Given the description of an element on the screen output the (x, y) to click on. 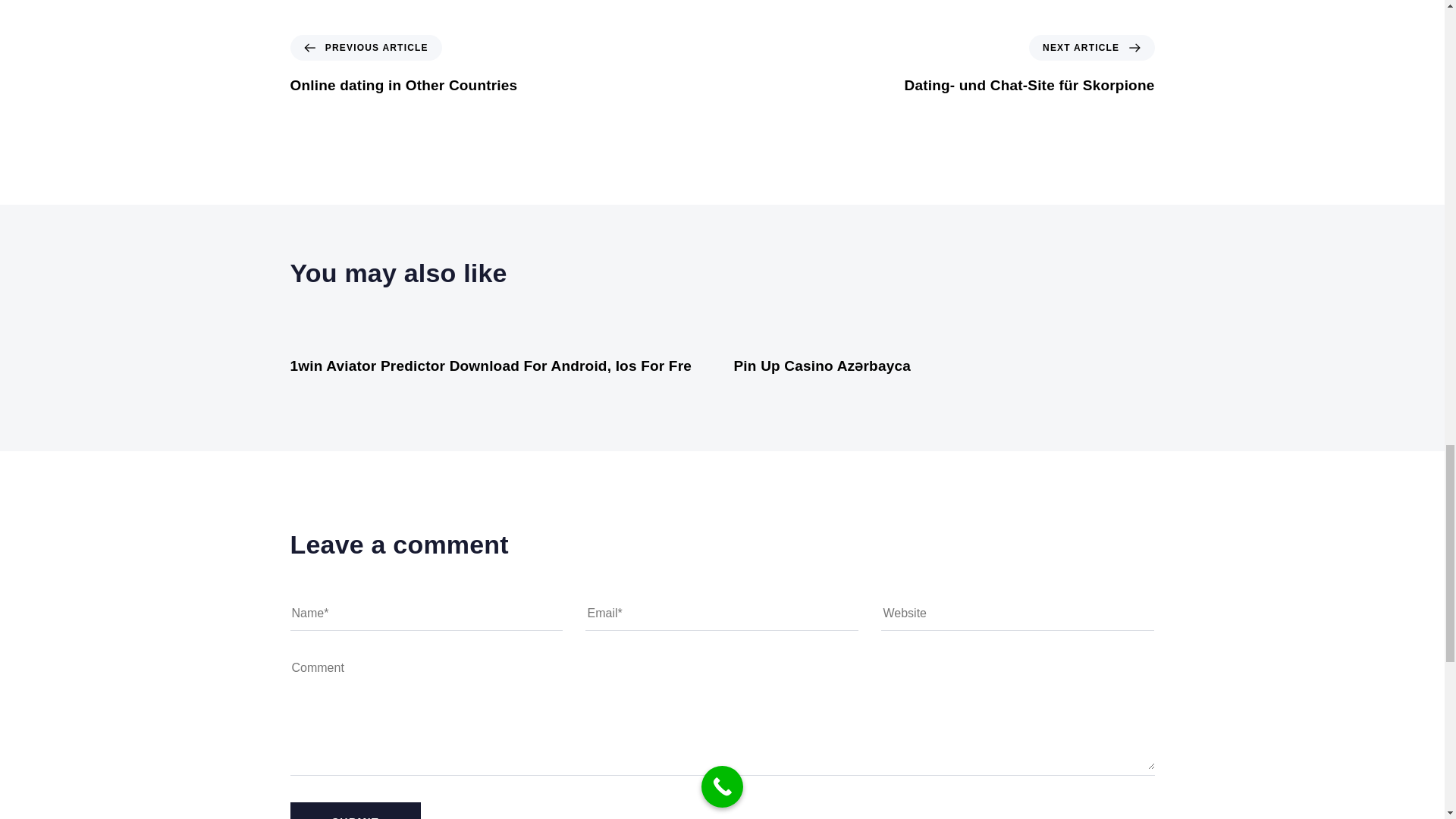
1win Aviator Predictor Download For Android, Ios For Fre (490, 365)
Submit (354, 810)
Submit (402, 65)
